Given the description of an element on the screen output the (x, y) to click on. 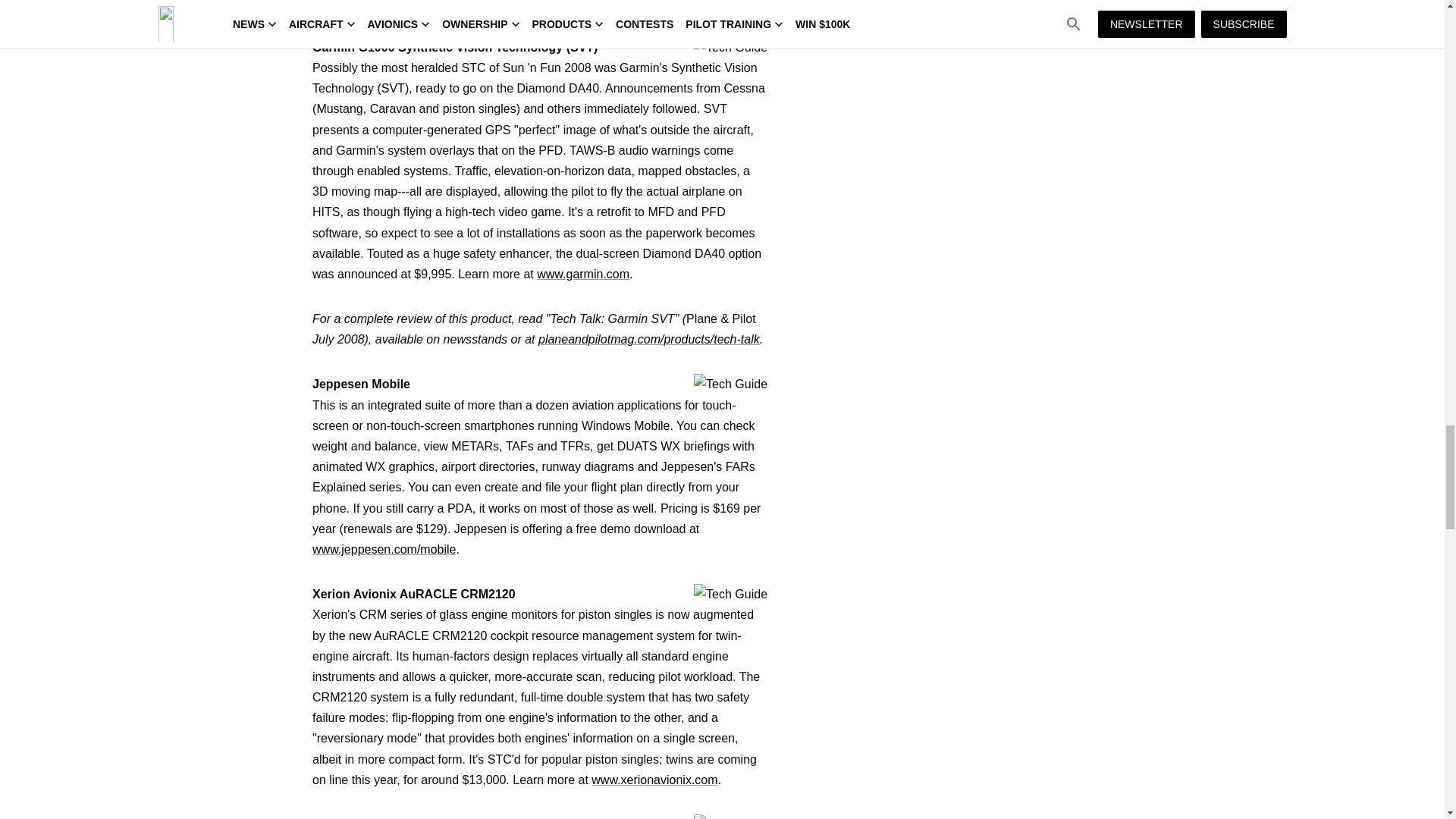
www.xerionavionix.com (654, 779)
www.insightavionics.com (379, 4)
www.garmin.com (582, 273)
